Given the description of an element on the screen output the (x, y) to click on. 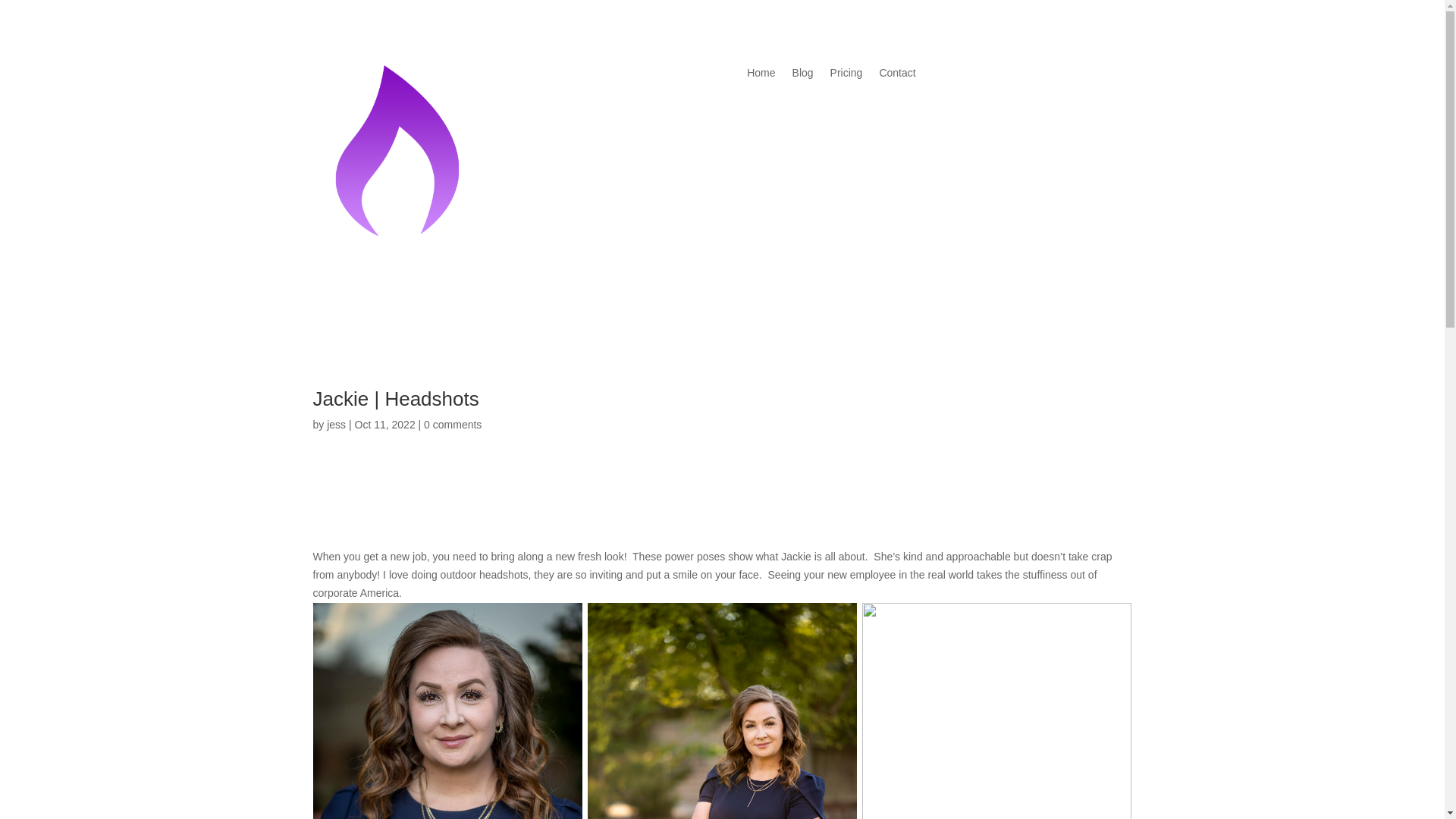
jess (336, 424)
Home (760, 75)
Posts by jess (336, 424)
Pricing (846, 75)
Contact (897, 75)
Follow on Facebook (324, 508)
Follow on Instagram (1002, 73)
Follow on Facebook (972, 73)
Blog (802, 75)
Follow on Instagram (354, 508)
0 comments (452, 424)
